Given the description of an element on the screen output the (x, y) to click on. 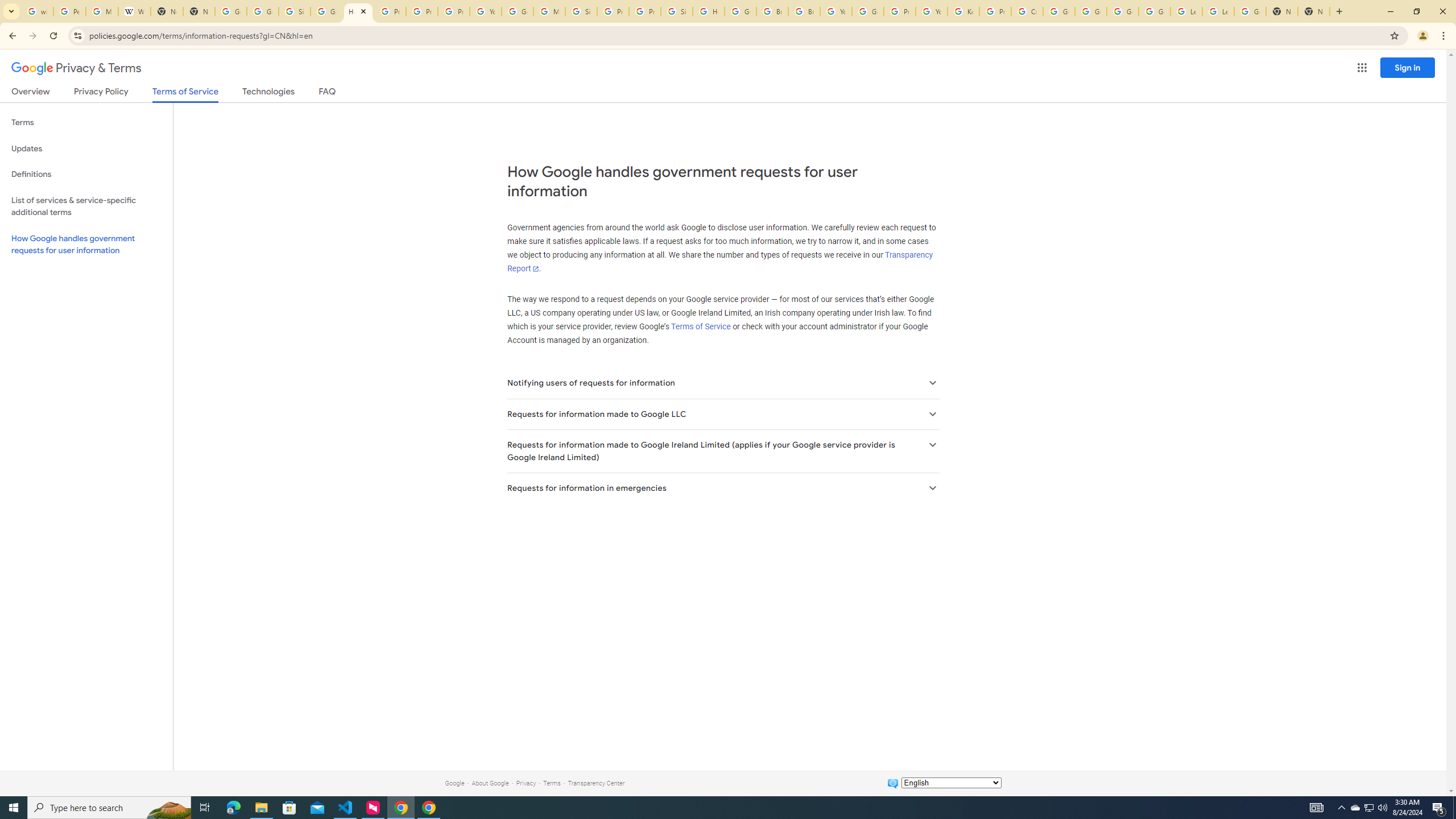
Wikipedia:Edit requests - Wikipedia (134, 11)
Transparency Report (719, 262)
Google Account Help (1123, 11)
Google Account Help (1154, 11)
